Given the description of an element on the screen output the (x, y) to click on. 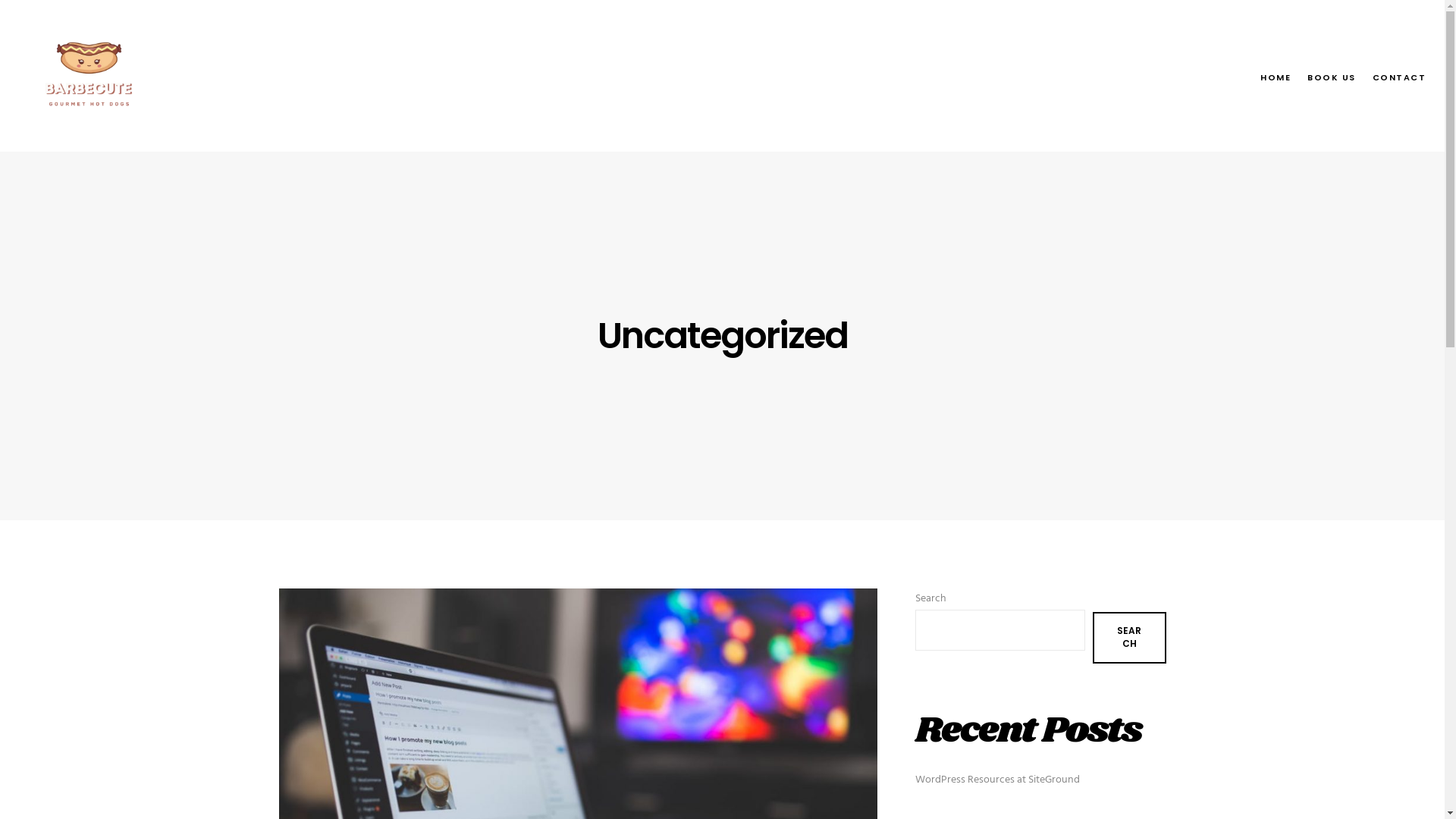
CONTACT Element type: text (1390, 75)
HOME Element type: text (1266, 75)
BOOK US Element type: text (1322, 75)
WordPress Resources at SiteGround Element type: text (996, 779)
SEARCH Element type: text (1128, 637)
